Given the description of an element on the screen output the (x, y) to click on. 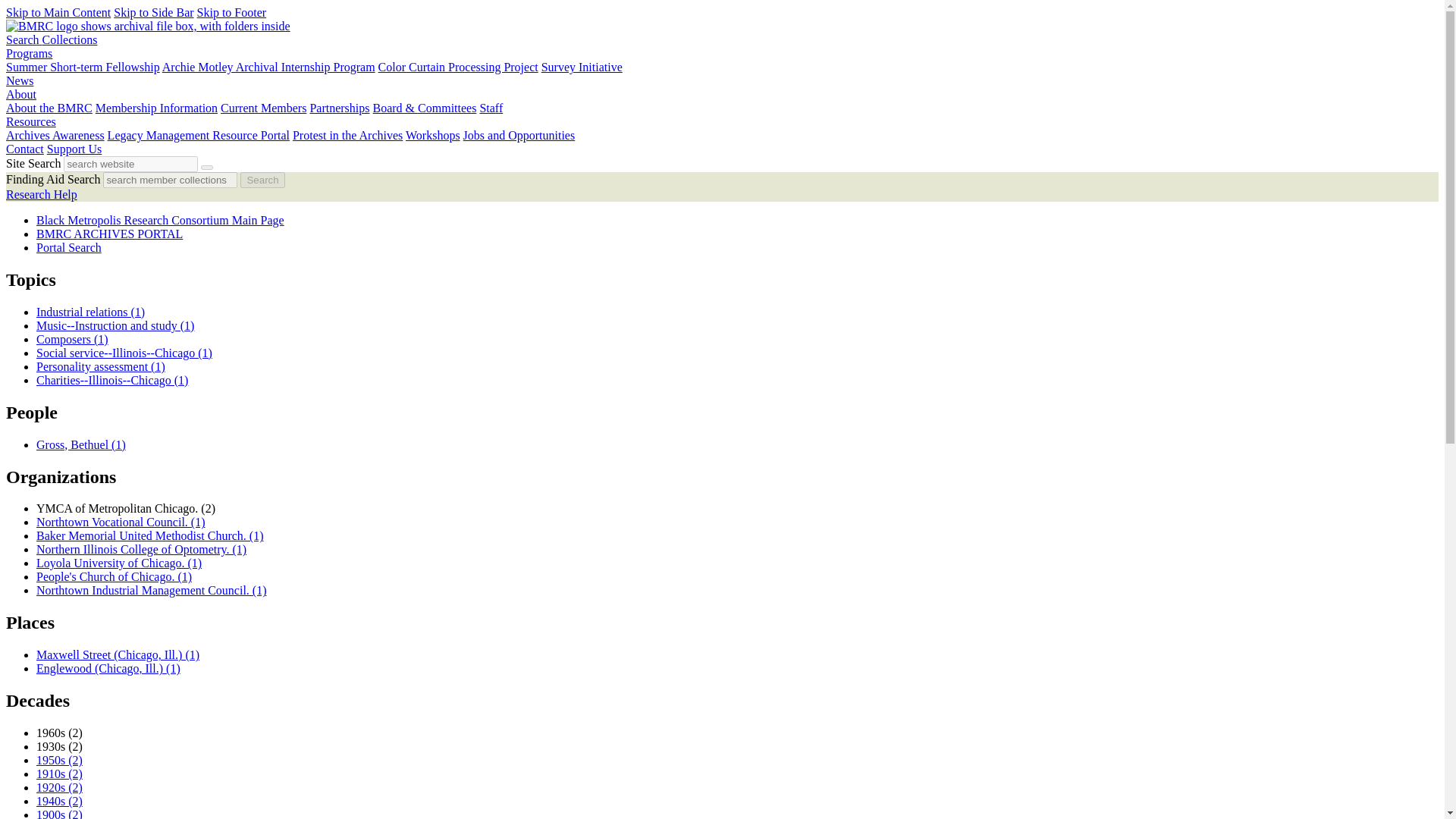
Legacy Management Resource Portal (198, 134)
Staff (490, 107)
Summer Short-term Fellowship (82, 66)
Workshops (433, 134)
Color Curtain Processing Project (458, 66)
Archives Awareness (54, 134)
Archie Motley Archival Internship Program (268, 66)
News (19, 80)
BMRC ARCHIVES PORTAL (109, 233)
Search Collections (51, 39)
